Given the description of an element on the screen output the (x, y) to click on. 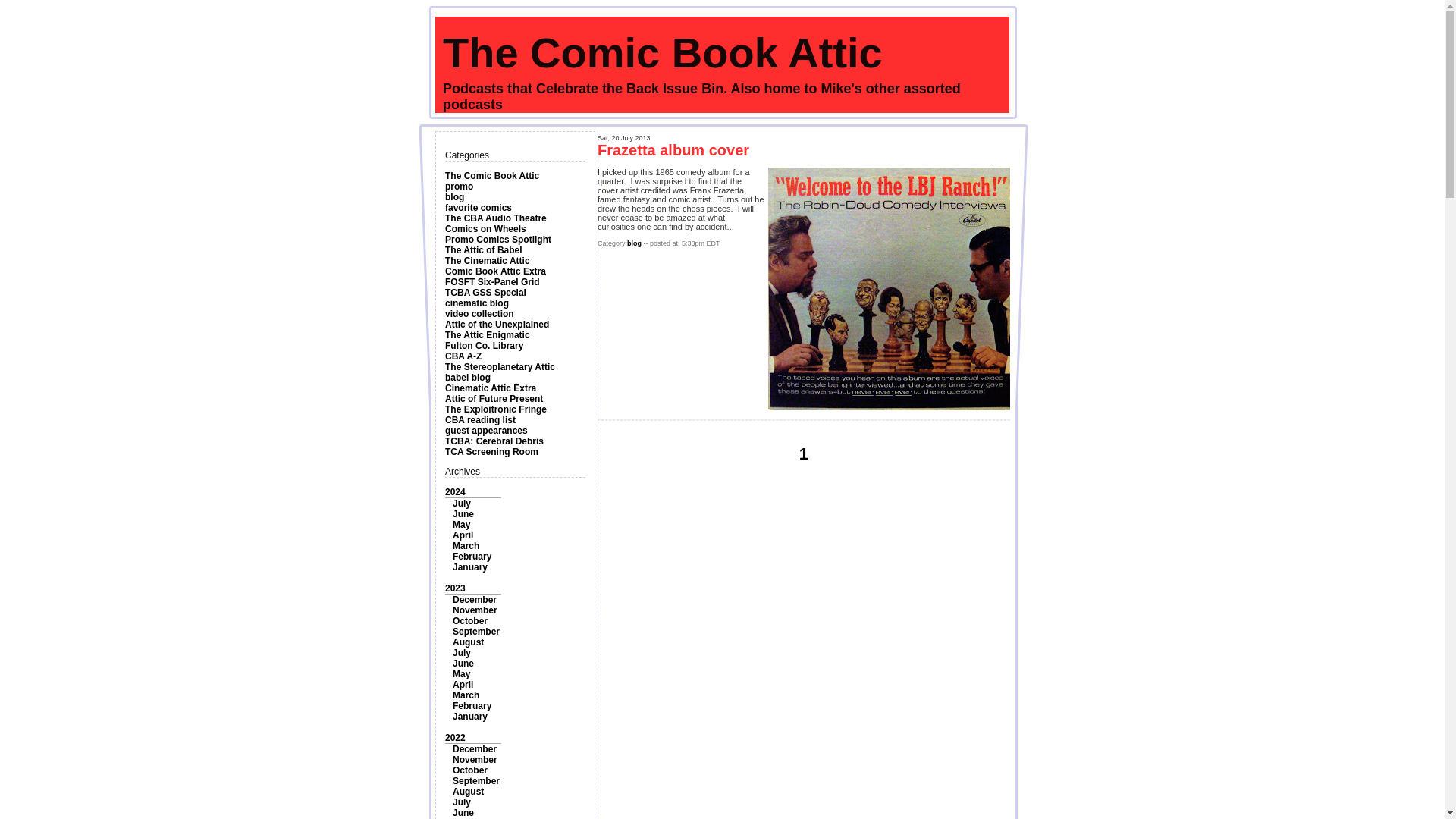
June (463, 513)
2023 (455, 588)
CBA A-Z (463, 356)
cinematic blog (476, 303)
The Attic Enigmatic (487, 335)
babel blog (467, 377)
The Cinematic Attic (487, 260)
February (472, 556)
September (475, 631)
March (465, 545)
